Given the description of an element on the screen output the (x, y) to click on. 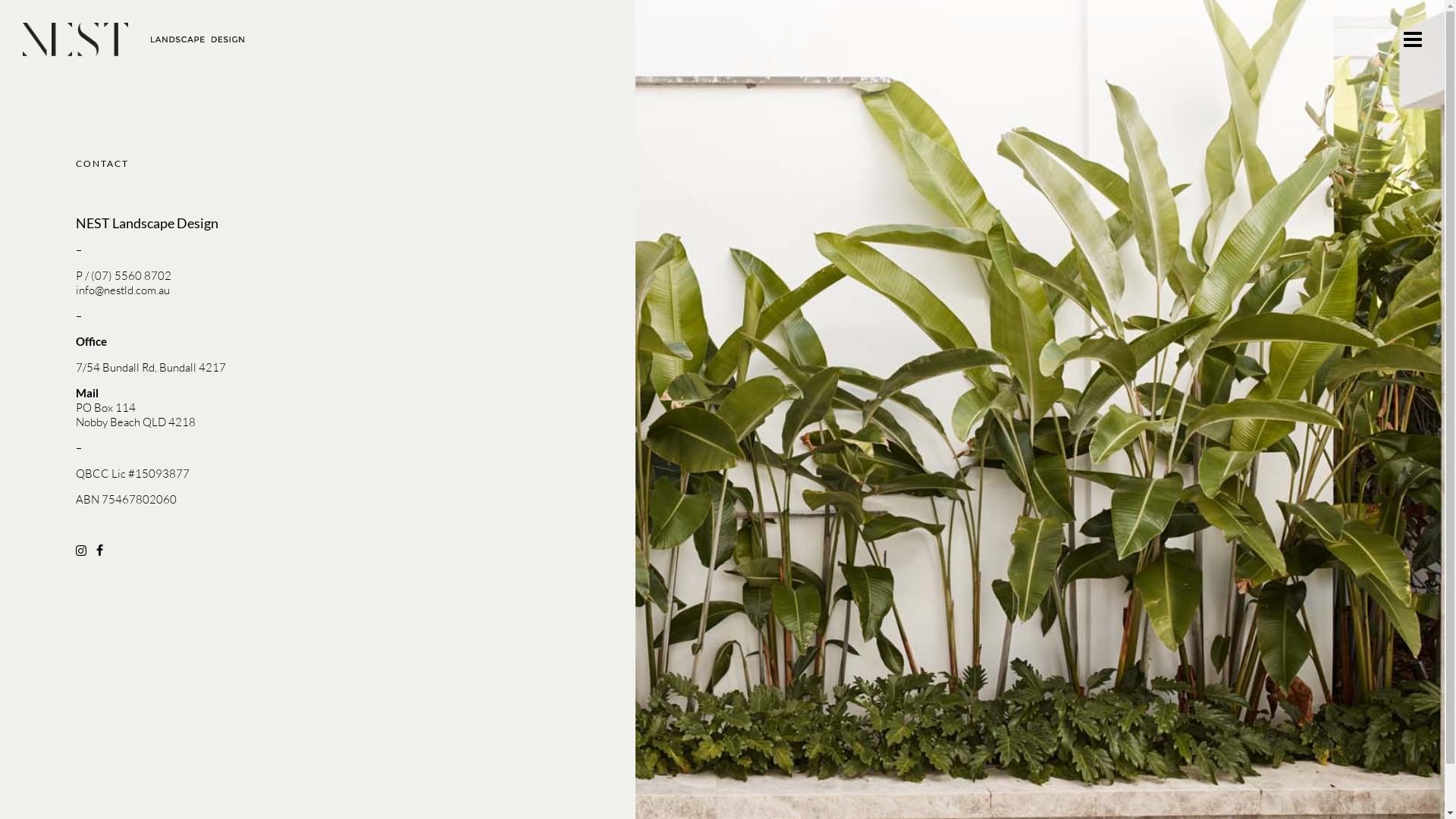
7/54 Bundall Rd, Bundall 4217 Element type: text (150, 367)
info@nestld.com.au Element type: text (122, 289)
(07) 5560 8702 Element type: text (131, 275)
